Given the description of an element on the screen output the (x, y) to click on. 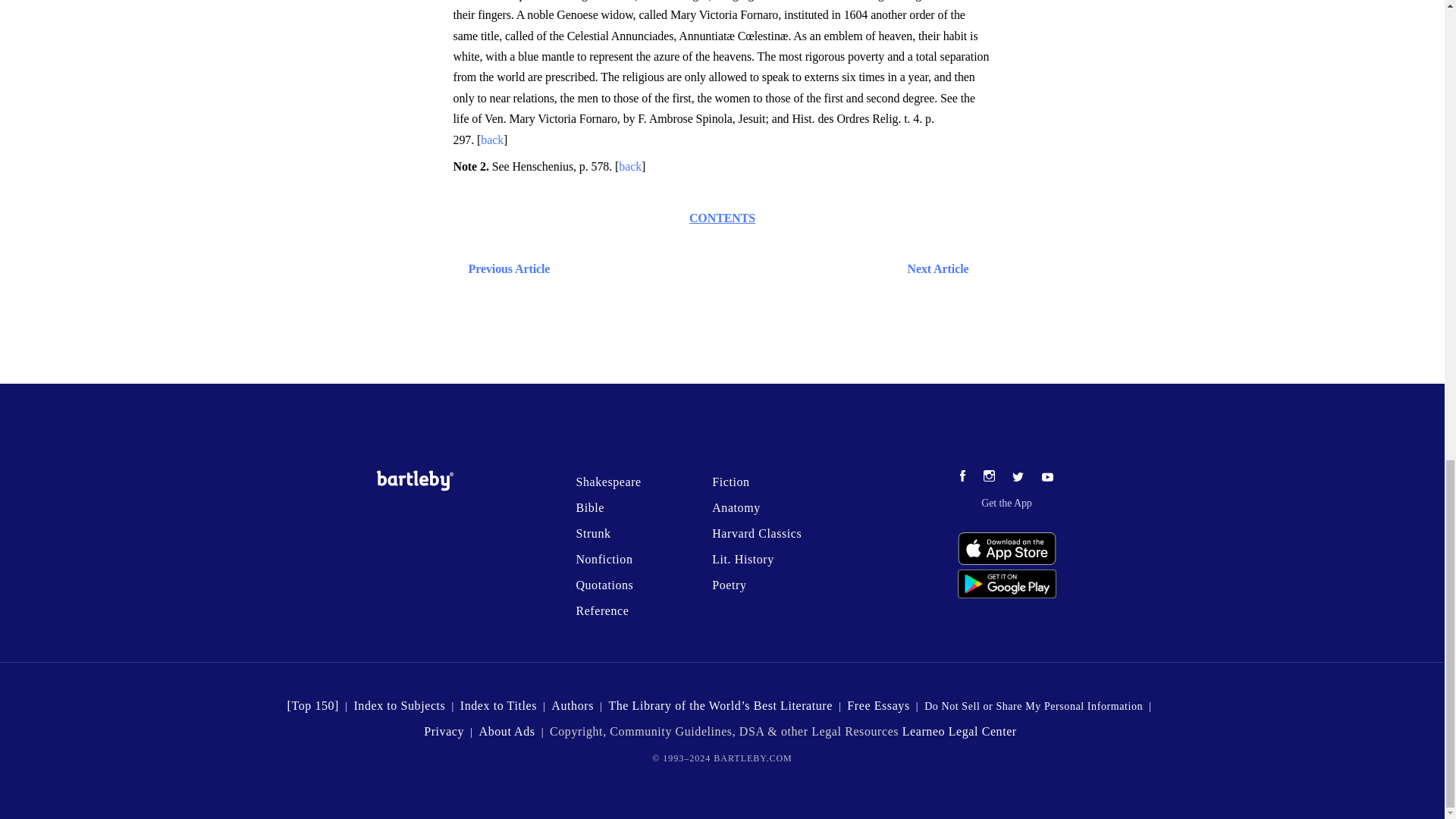
Next Article (766, 268)
CONTENTS (721, 217)
back (630, 165)
Strunk (592, 533)
back (491, 139)
Fiction (730, 481)
Bible (589, 507)
Note 2. (472, 165)
Previous Article (505, 268)
Quotations (604, 584)
Reference (601, 610)
Shakespeare (607, 481)
Nonfiction (603, 558)
